Given the description of an element on the screen output the (x, y) to click on. 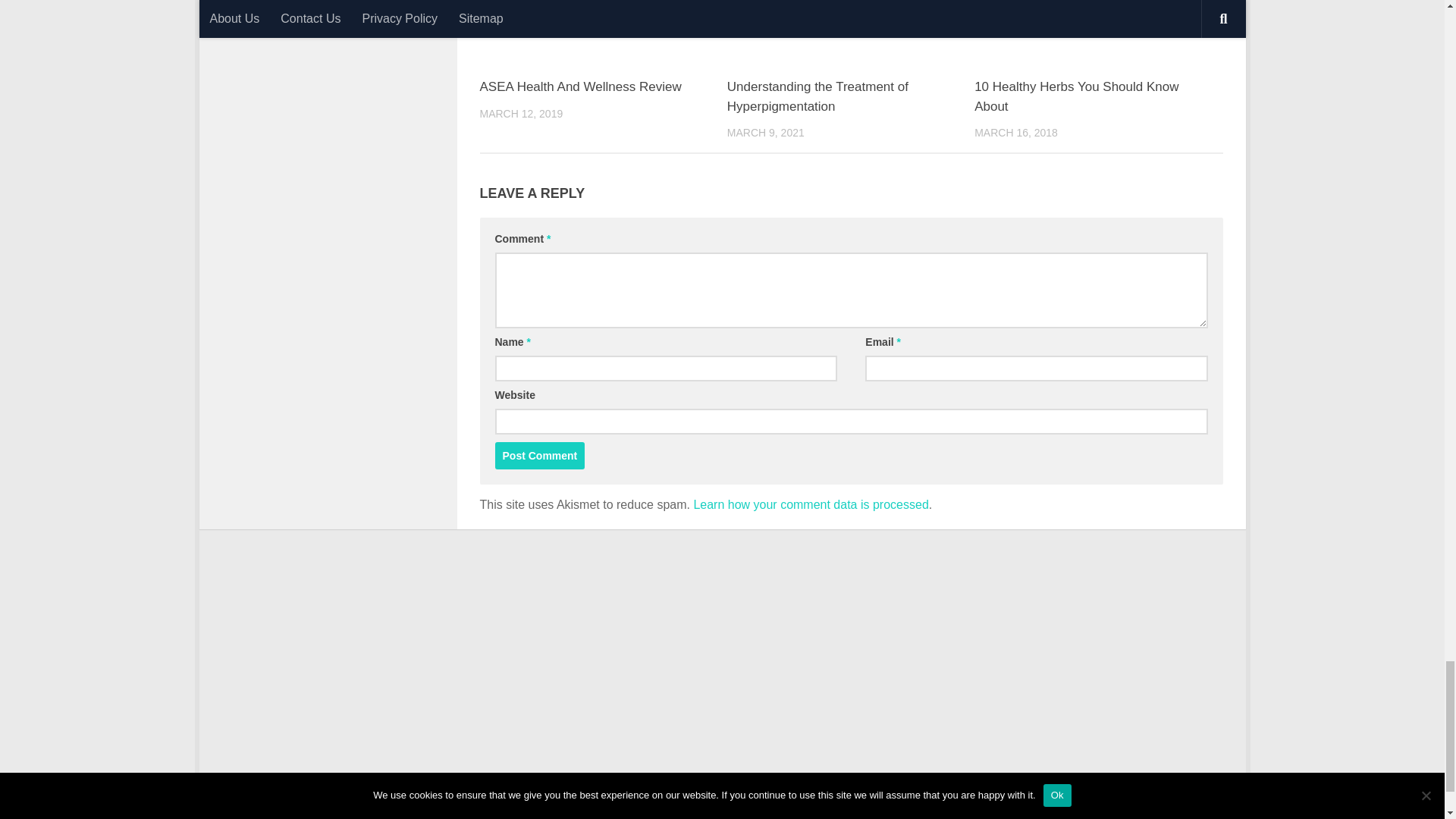
Post Comment (540, 455)
